Given the description of an element on the screen output the (x, y) to click on. 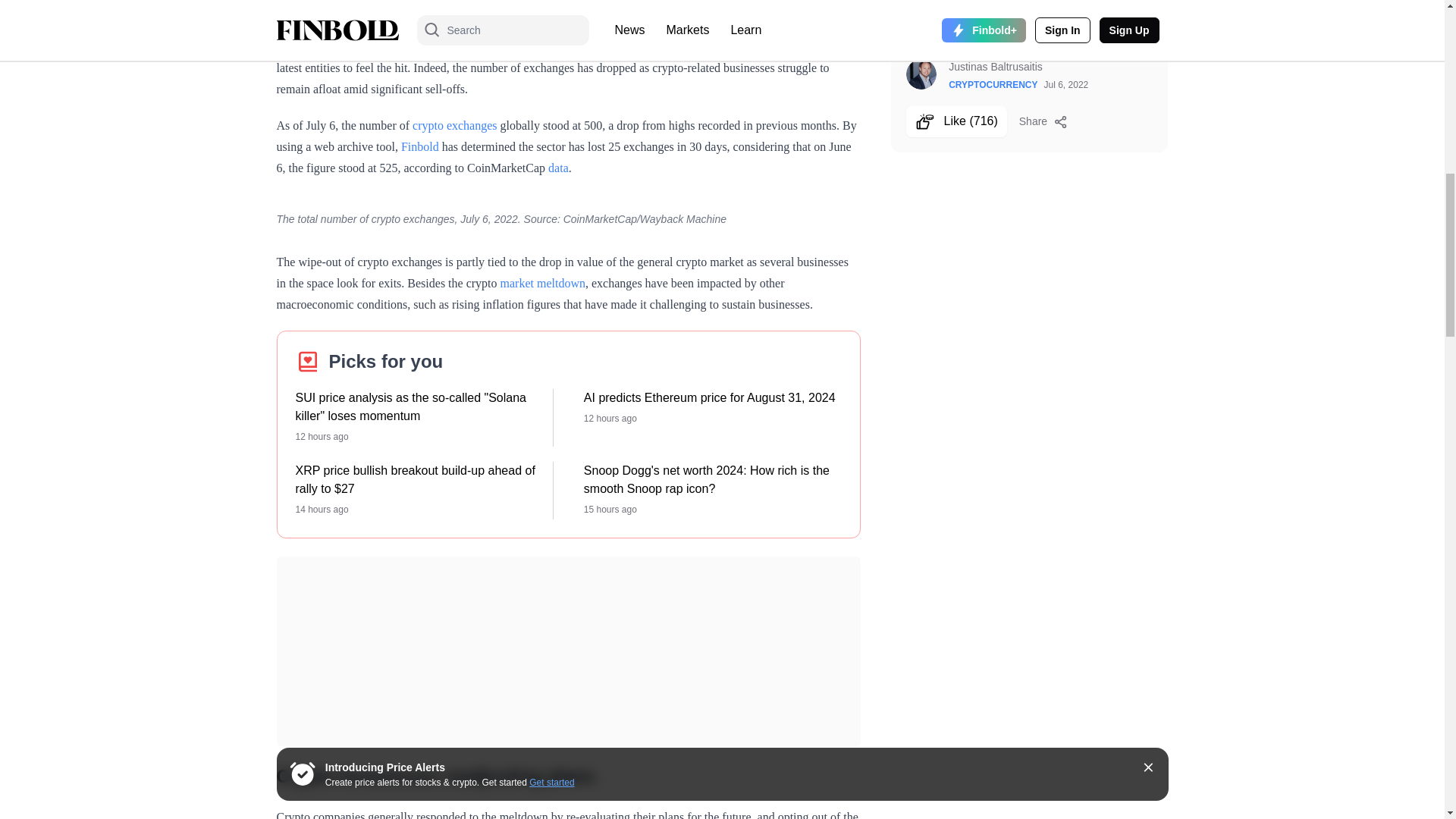
AI predicts Ethereum price for August 31, 2024 (712, 398)
Advertisement (568, 12)
